Given the description of an element on the screen output the (x, y) to click on. 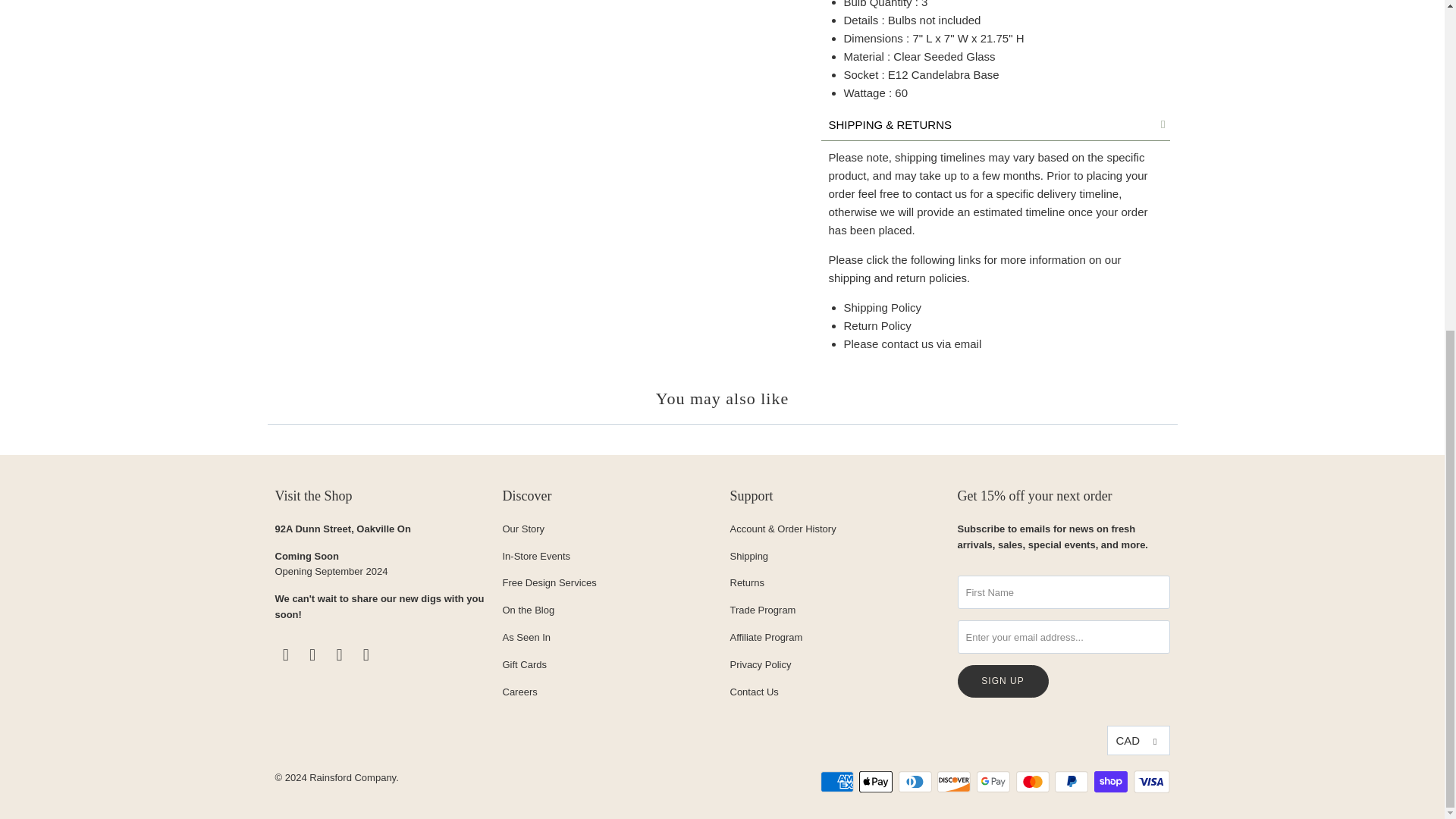
Rainsford Company on Instagram (339, 655)
Diners Club (916, 781)
American Express (839, 781)
Visa (1150, 781)
Rainsford Company on Pinterest (312, 655)
Sign Up (1002, 680)
Rainsford Company on Facebook (286, 655)
Mastercard (1034, 781)
Google Pay (994, 781)
Shop Pay (1112, 781)
